Given the description of an element on the screen output the (x, y) to click on. 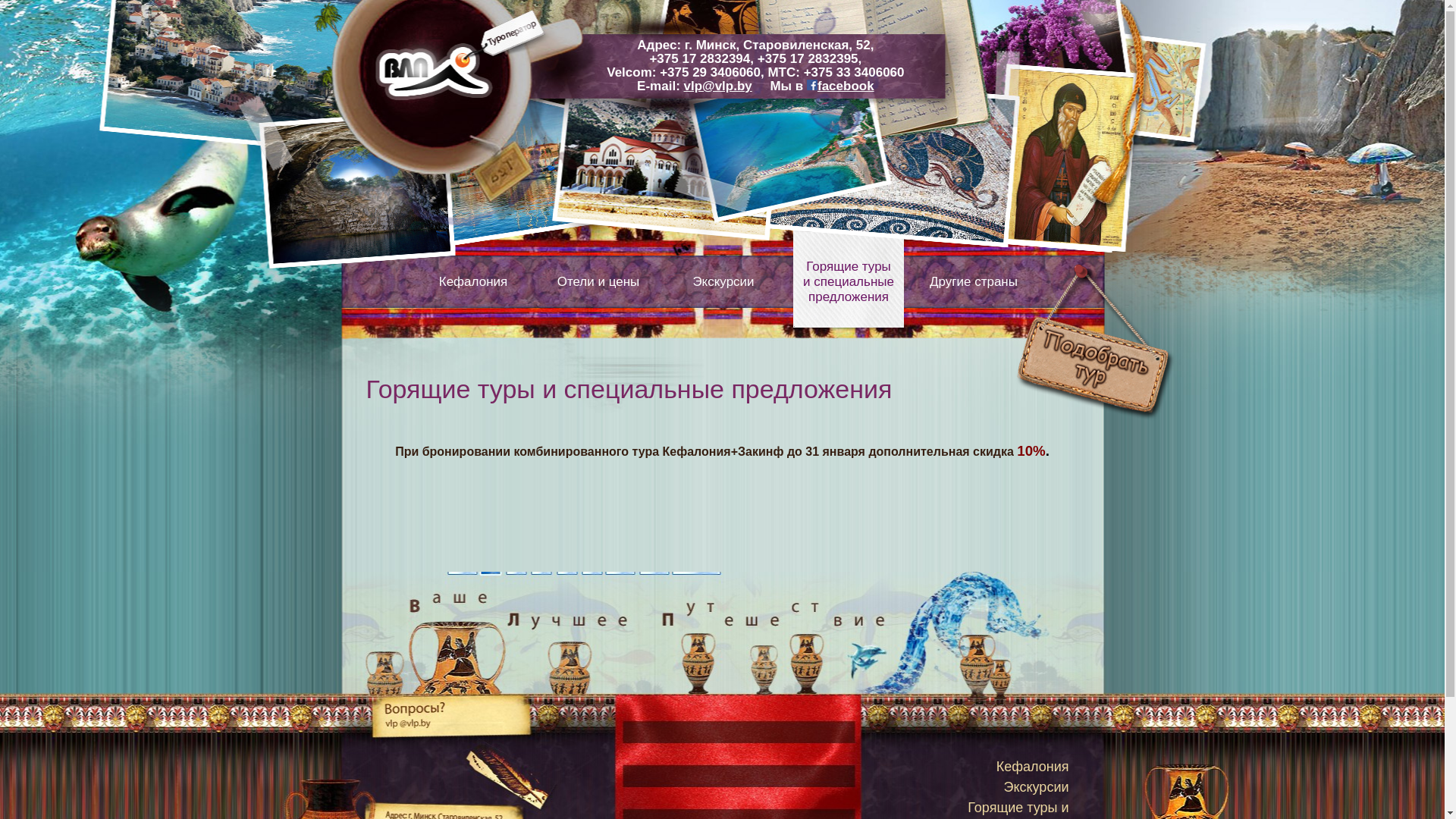
vlp@vlp.by Element type: text (718, 85)
facebook Element type: text (840, 85)
